Given the description of an element on the screen output the (x, y) to click on. 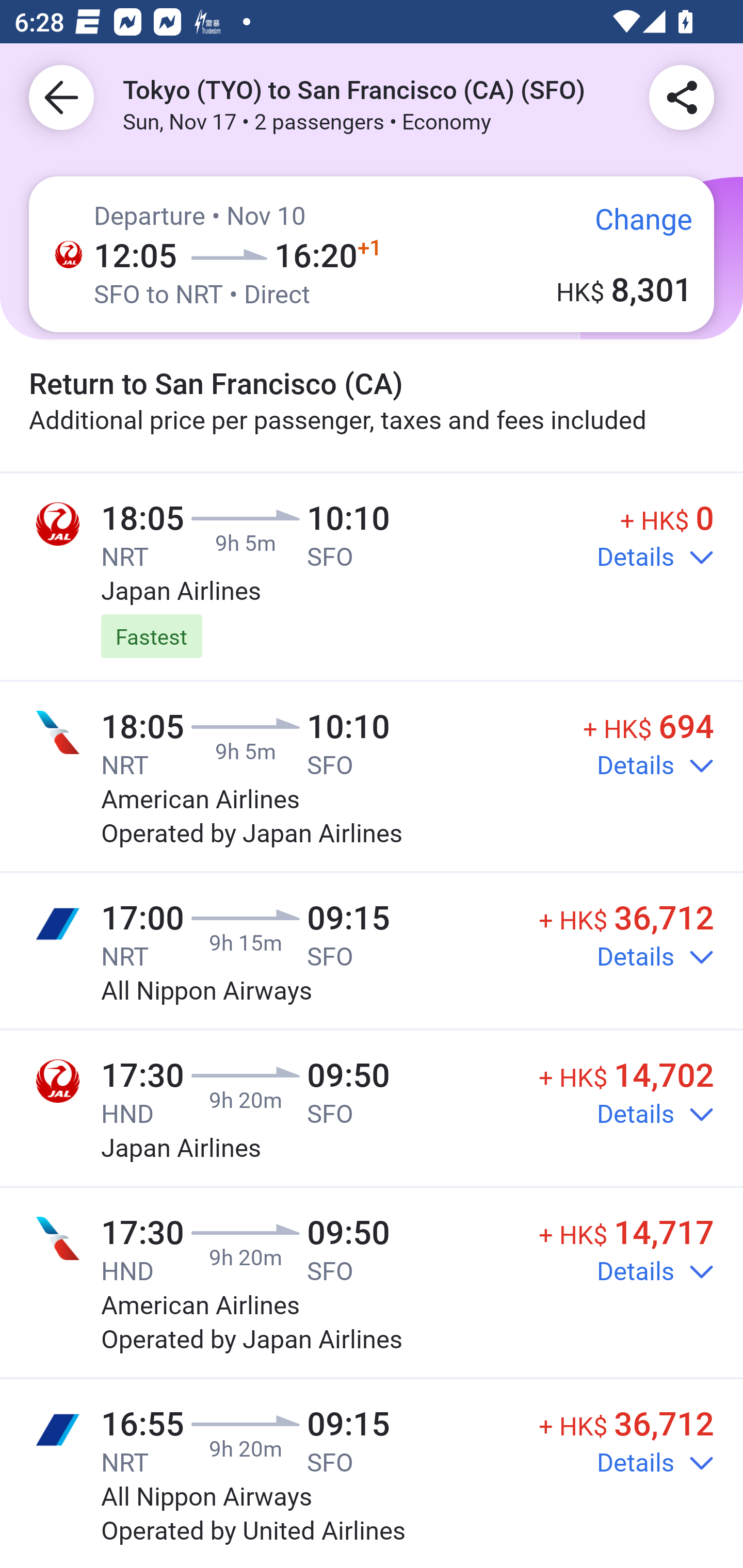
Change (629, 225)
